Given the description of an element on the screen output the (x, y) to click on. 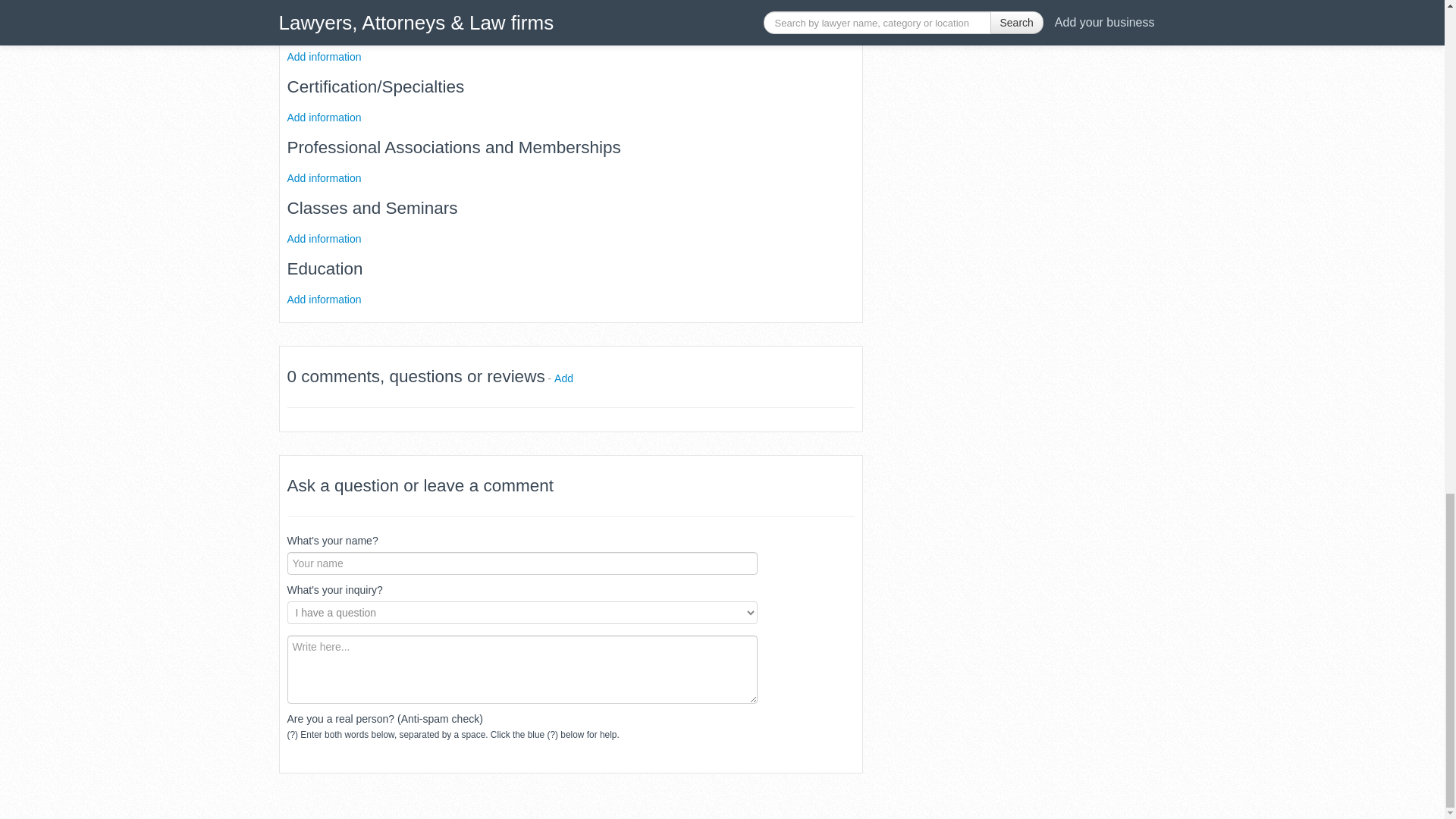
Add information (323, 177)
Add information (323, 298)
Add (563, 377)
Add information (323, 116)
Add information (323, 55)
Add information (323, 237)
